Given the description of an element on the screen output the (x, y) to click on. 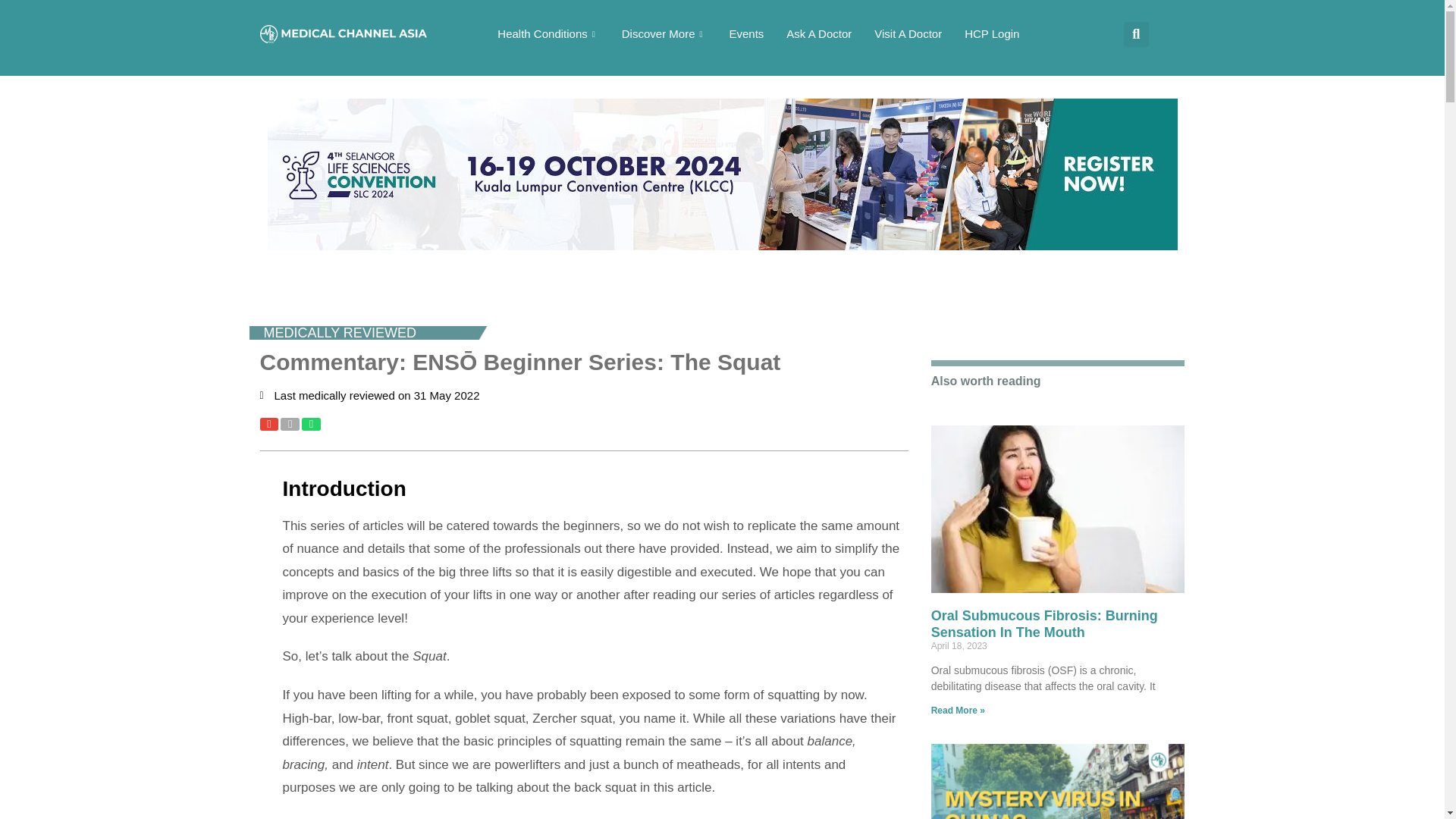
HCP Login (991, 33)
Visit A Doctor (908, 33)
Health Conditions (548, 33)
Ask A Doctor (818, 33)
Events (745, 33)
Discover More (663, 33)
